Given the description of an element on the screen output the (x, y) to click on. 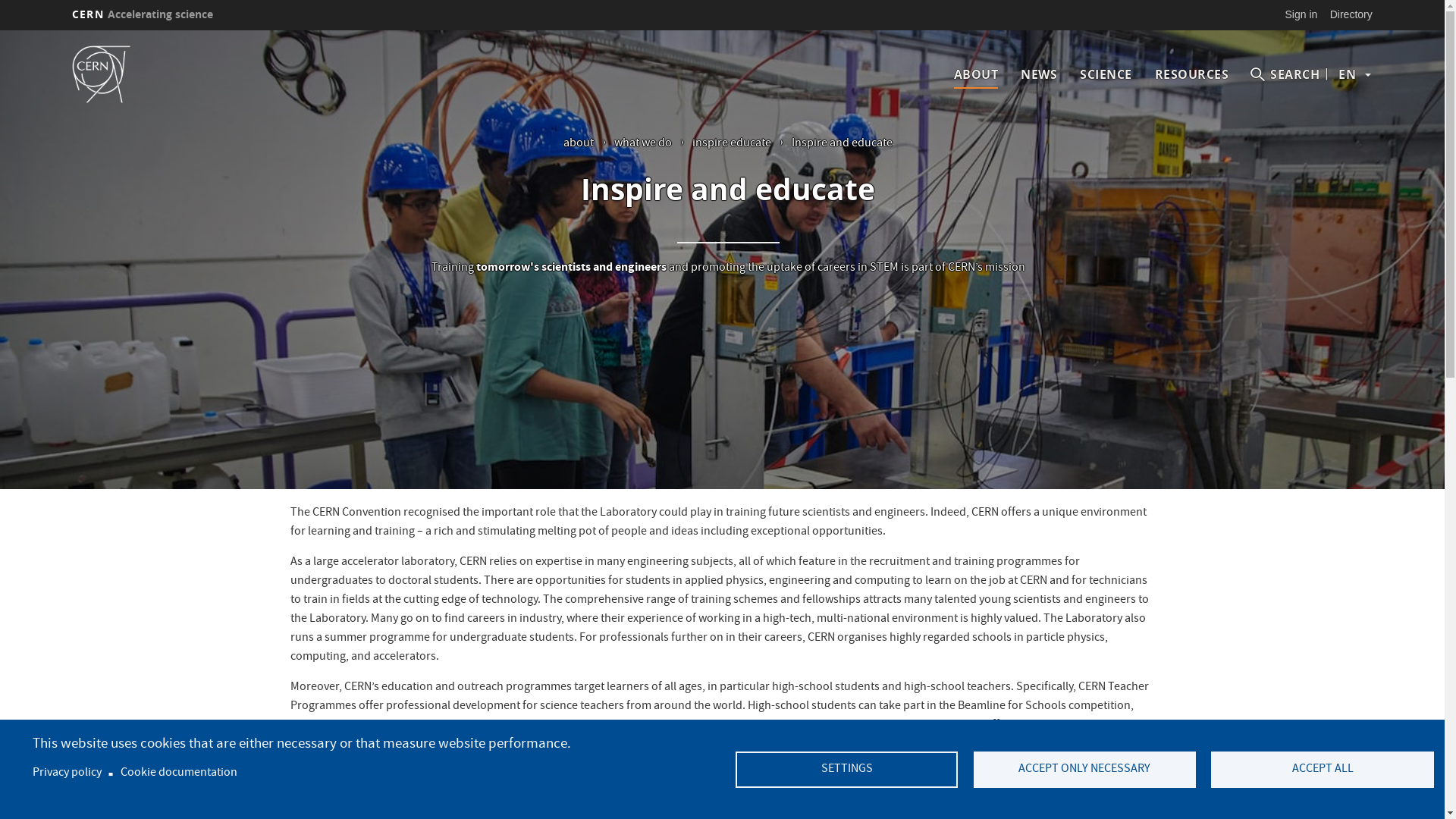
SCIENCE Element type: text (1105, 74)
Privacy policy Element type: text (66, 773)
ABOUT Element type: text (975, 74)
SETTINGS Element type: text (846, 769)
what we do Element type: text (642, 143)
Skip to main content Element type: text (0, 30)
Directory Element type: text (1351, 14)
|
EN Element type: text (1346, 74)
RESOURCES Element type: text (1191, 74)
Cookie documentation Element type: text (178, 773)
Sign in Element type: text (1301, 14)
ACCEPT ONLY NECESSARY Element type: text (1084, 769)
Home Element type: hover (122, 74)
ACCEPT ALL Element type: text (1322, 769)
CERN Accelerating science Element type: text (142, 14)
NEWS Element type: text (1038, 74)
about Element type: text (578, 143)
SEARCH Element type: text (1285, 74)
